Given the description of an element on the screen output the (x, y) to click on. 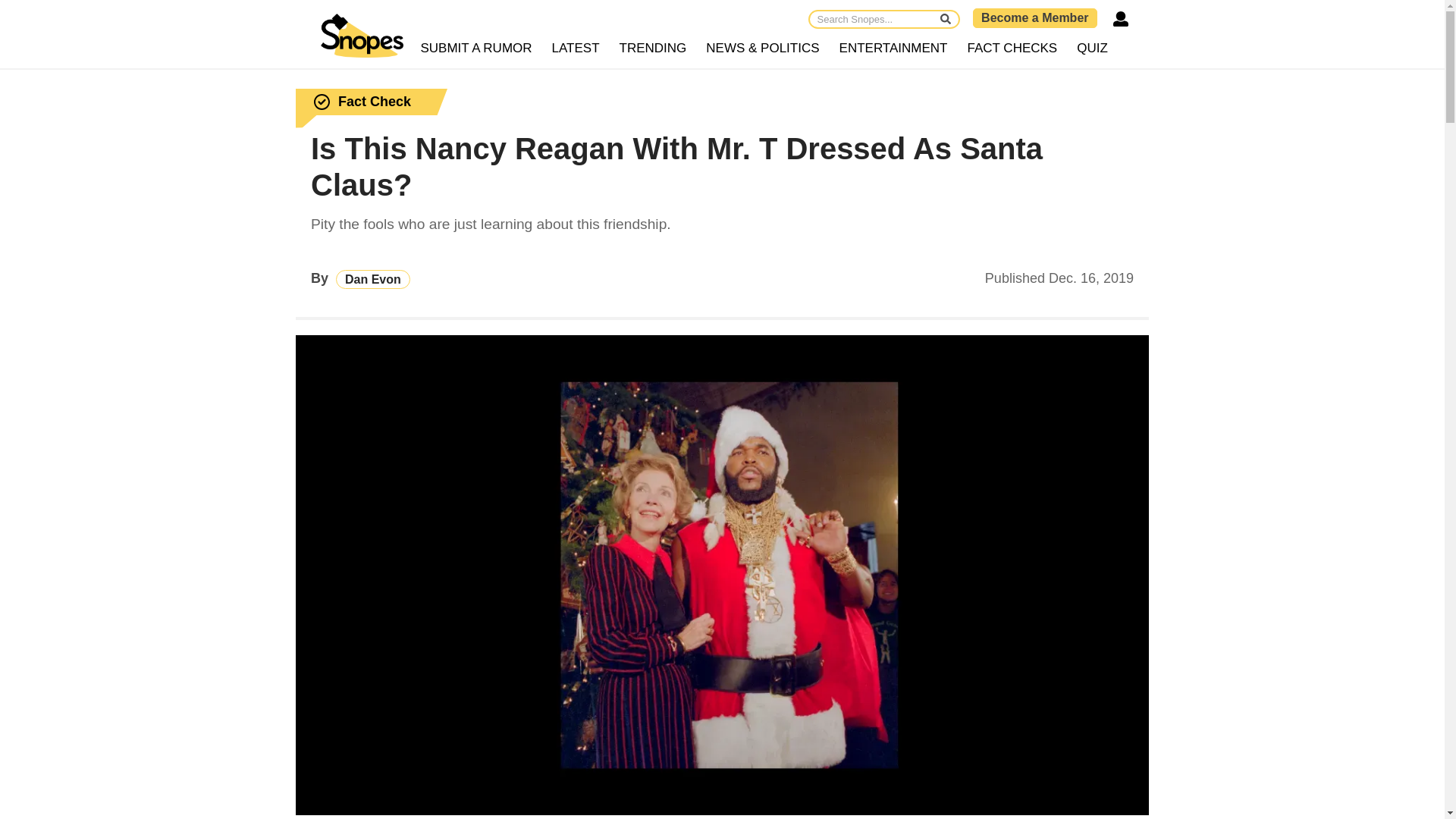
TRENDING (653, 47)
Become a Member (1034, 17)
SUBMIT A RUMOR (475, 47)
FACT CHECKS (1011, 47)
Dan Evon (373, 279)
LATEST (576, 47)
ENTERTAINMENT (893, 47)
QUIZ (1092, 47)
